Given the description of an element on the screen output the (x, y) to click on. 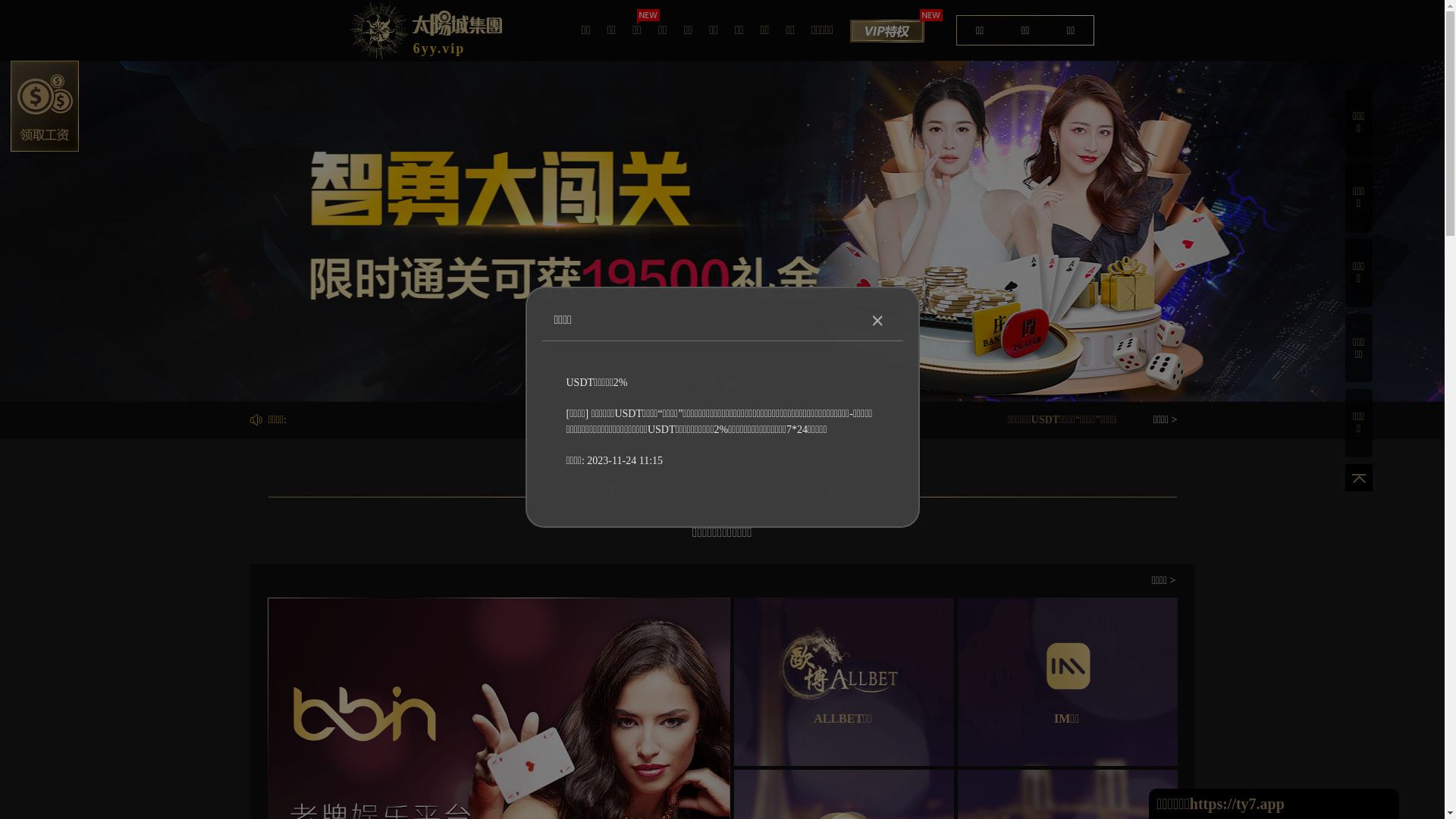
6yy.vip Element type: text (426, 30)
